Given the description of an element on the screen output the (x, y) to click on. 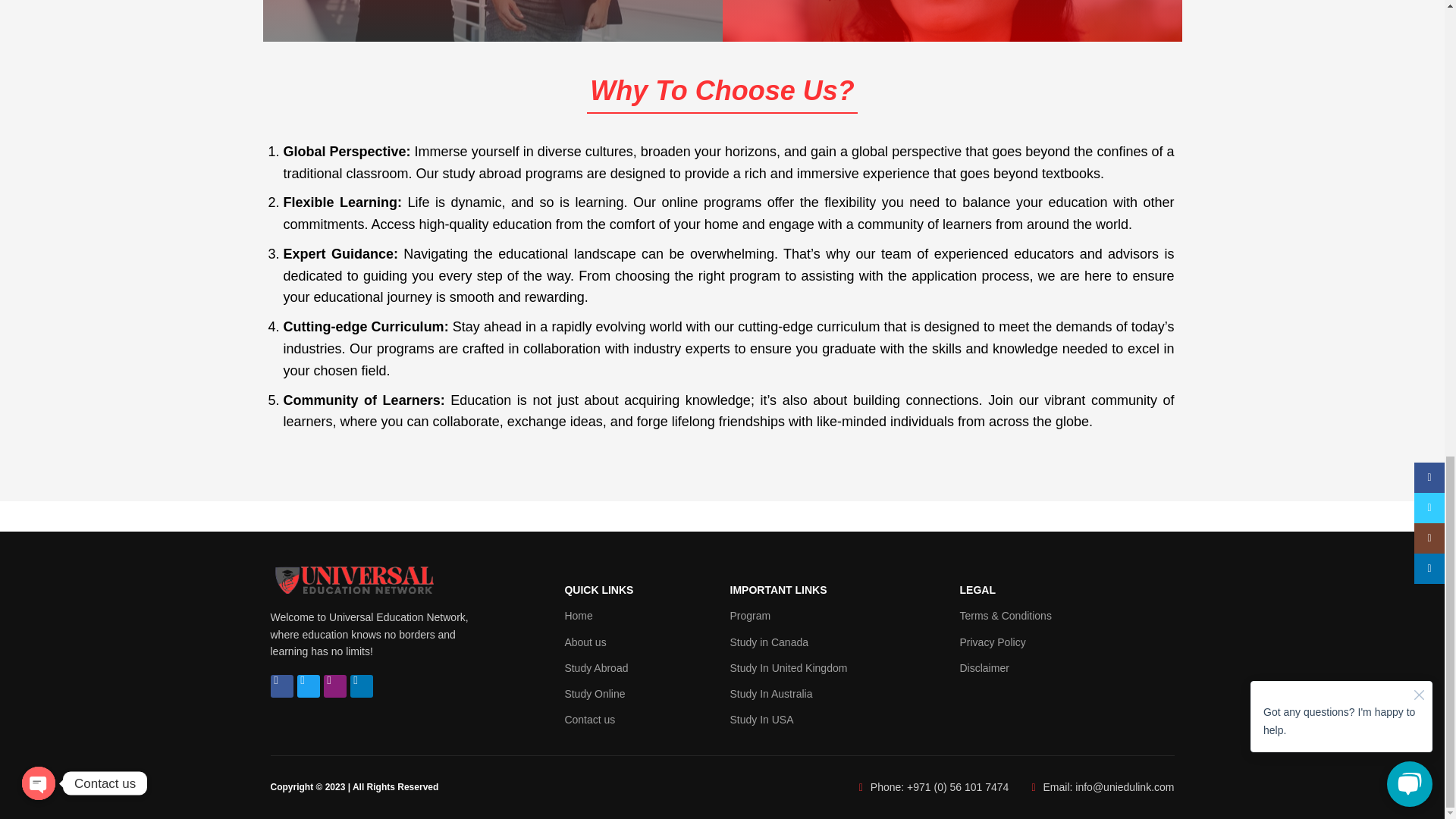
c42e3ff0-119c-429d-a188-c5ee8a0fde93-removebg-preview (352, 577)
